Given the description of an element on the screen output the (x, y) to click on. 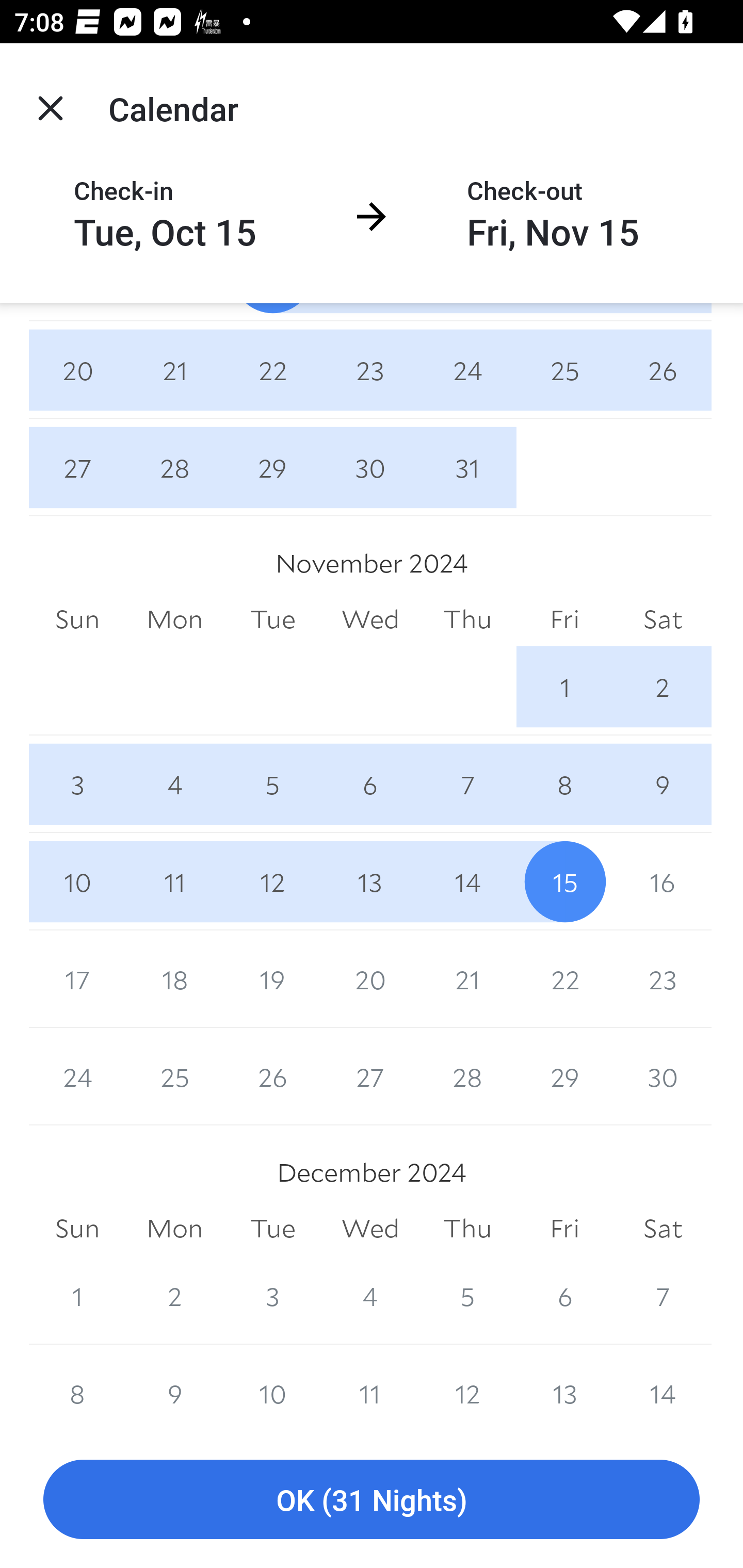
20 20 October 2024 (77, 369)
21 21 October 2024 (174, 369)
22 22 October 2024 (272, 369)
23 23 October 2024 (370, 369)
24 24 October 2024 (467, 369)
25 25 October 2024 (564, 369)
26 26 October 2024 (662, 369)
27 27 October 2024 (77, 466)
28 28 October 2024 (174, 466)
29 29 October 2024 (272, 466)
30 30 October 2024 (370, 466)
31 31 October 2024 (467, 466)
Sun (77, 619)
Mon (174, 619)
Tue (272, 619)
Wed (370, 619)
Thu (467, 619)
Fri (564, 619)
Sat (662, 619)
1 1 November 2024 (564, 686)
2 2 November 2024 (662, 686)
3 3 November 2024 (77, 783)
4 4 November 2024 (174, 783)
5 5 November 2024 (272, 783)
6 6 November 2024 (370, 783)
7 7 November 2024 (467, 783)
8 8 November 2024 (564, 783)
9 9 November 2024 (662, 783)
10 10 November 2024 (77, 880)
11 11 November 2024 (174, 880)
12 12 November 2024 (272, 880)
13 13 November 2024 (370, 880)
14 14 November 2024 (467, 880)
15 15 November 2024 (564, 880)
16 16 November 2024 (662, 880)
17 17 November 2024 (77, 978)
18 18 November 2024 (174, 978)
19 19 November 2024 (272, 978)
20 20 November 2024 (370, 978)
21 21 November 2024 (467, 978)
22 22 November 2024 (564, 978)
23 23 November 2024 (662, 978)
24 24 November 2024 (77, 1076)
25 25 November 2024 (174, 1076)
26 26 November 2024 (272, 1076)
27 27 November 2024 (370, 1076)
28 28 November 2024 (467, 1076)
29 29 November 2024 (564, 1076)
30 30 November 2024 (662, 1076)
